Given the description of an element on the screen output the (x, y) to click on. 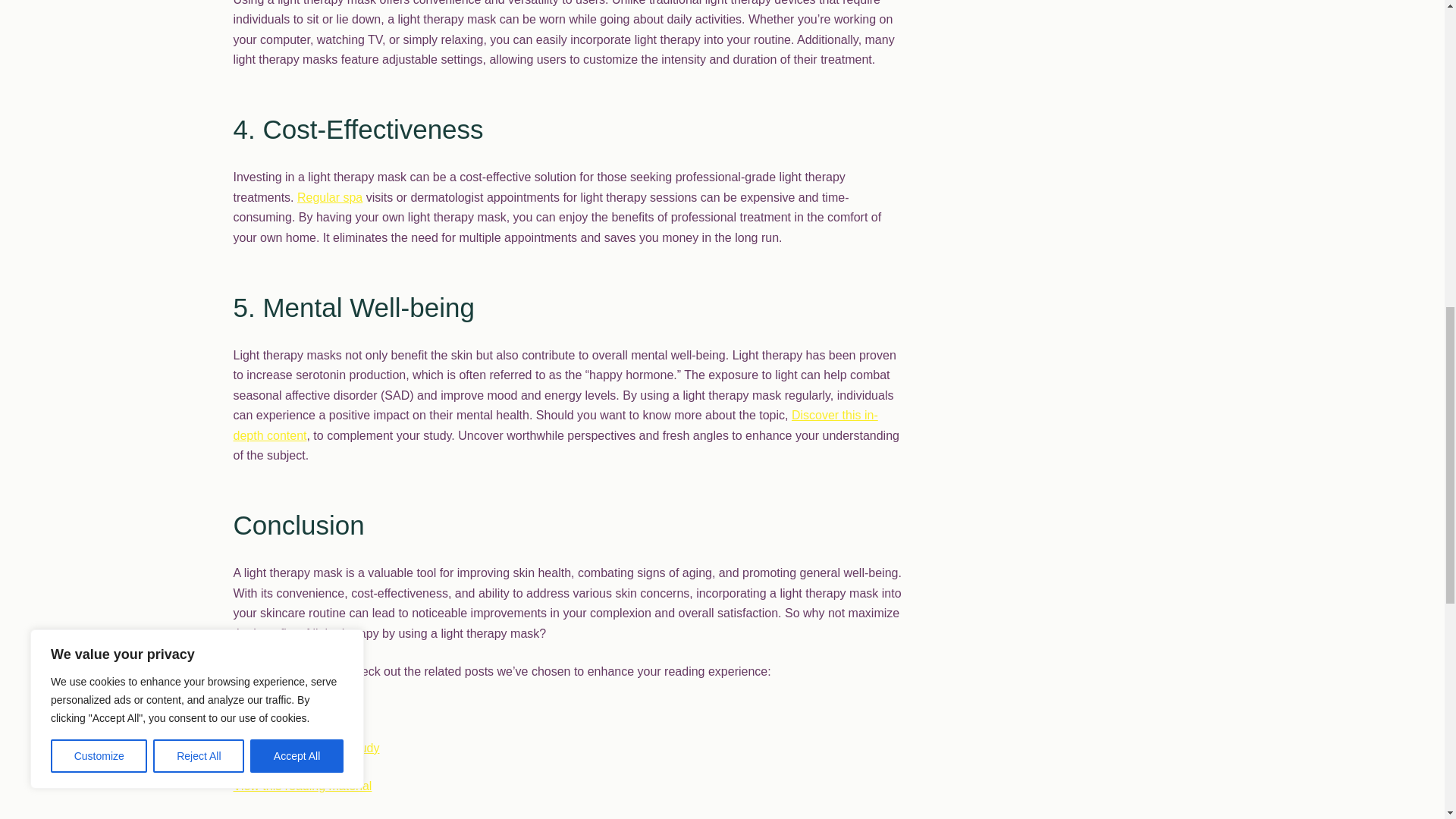
Read this informative study (306, 748)
Regular spa (329, 196)
Discover this in-depth content (554, 424)
View this reading material (302, 785)
Visit this useful guide (289, 708)
